Given the description of an element on the screen output the (x, y) to click on. 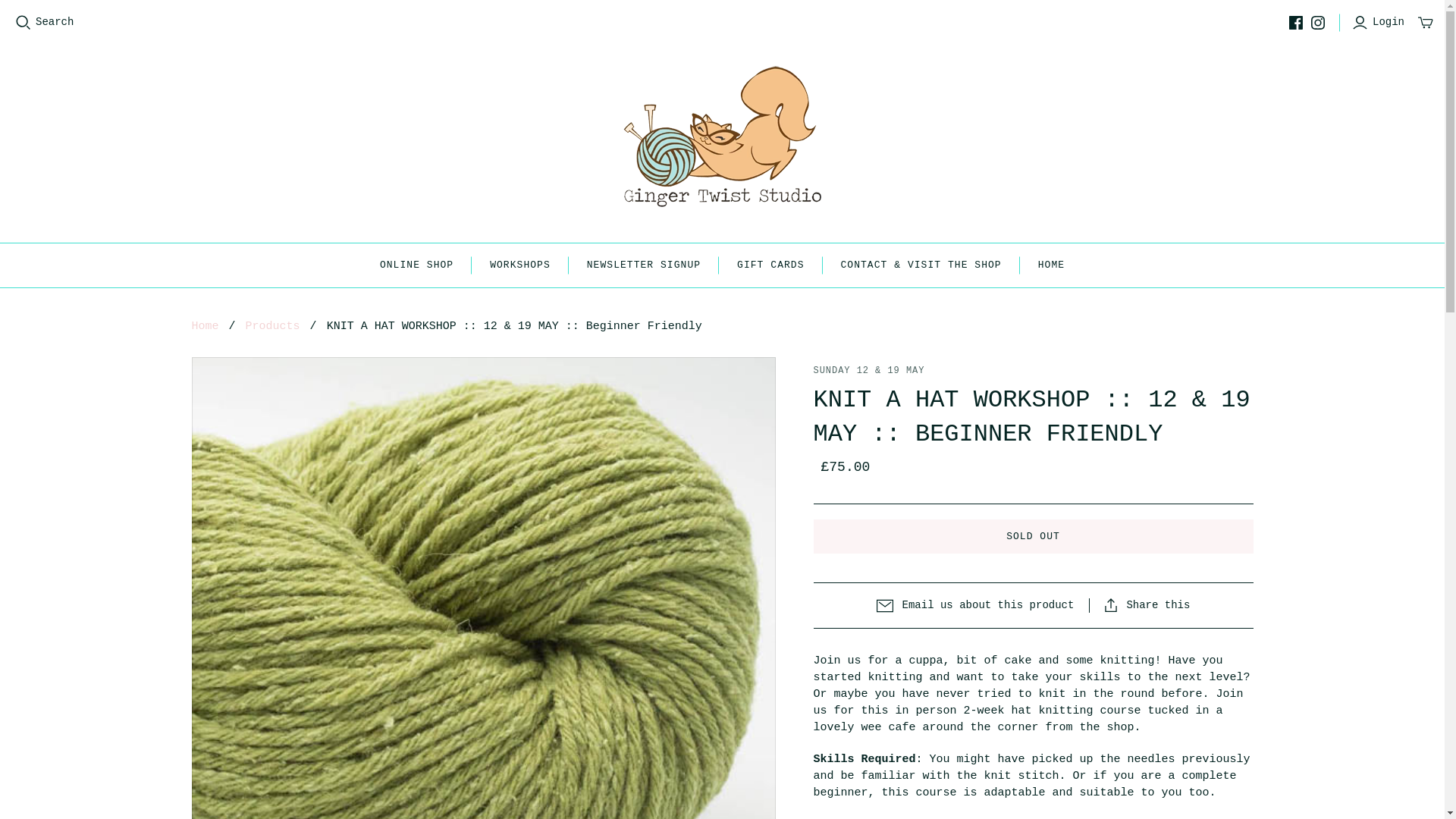
Home (204, 326)
GIFT CARDS (770, 265)
WORKSHOPS (520, 265)
Login (1380, 22)
Products (272, 326)
NEWSLETTER SIGNUP (644, 265)
ONLINE SHOP (416, 265)
HOME (1051, 265)
